Given the description of an element on the screen output the (x, y) to click on. 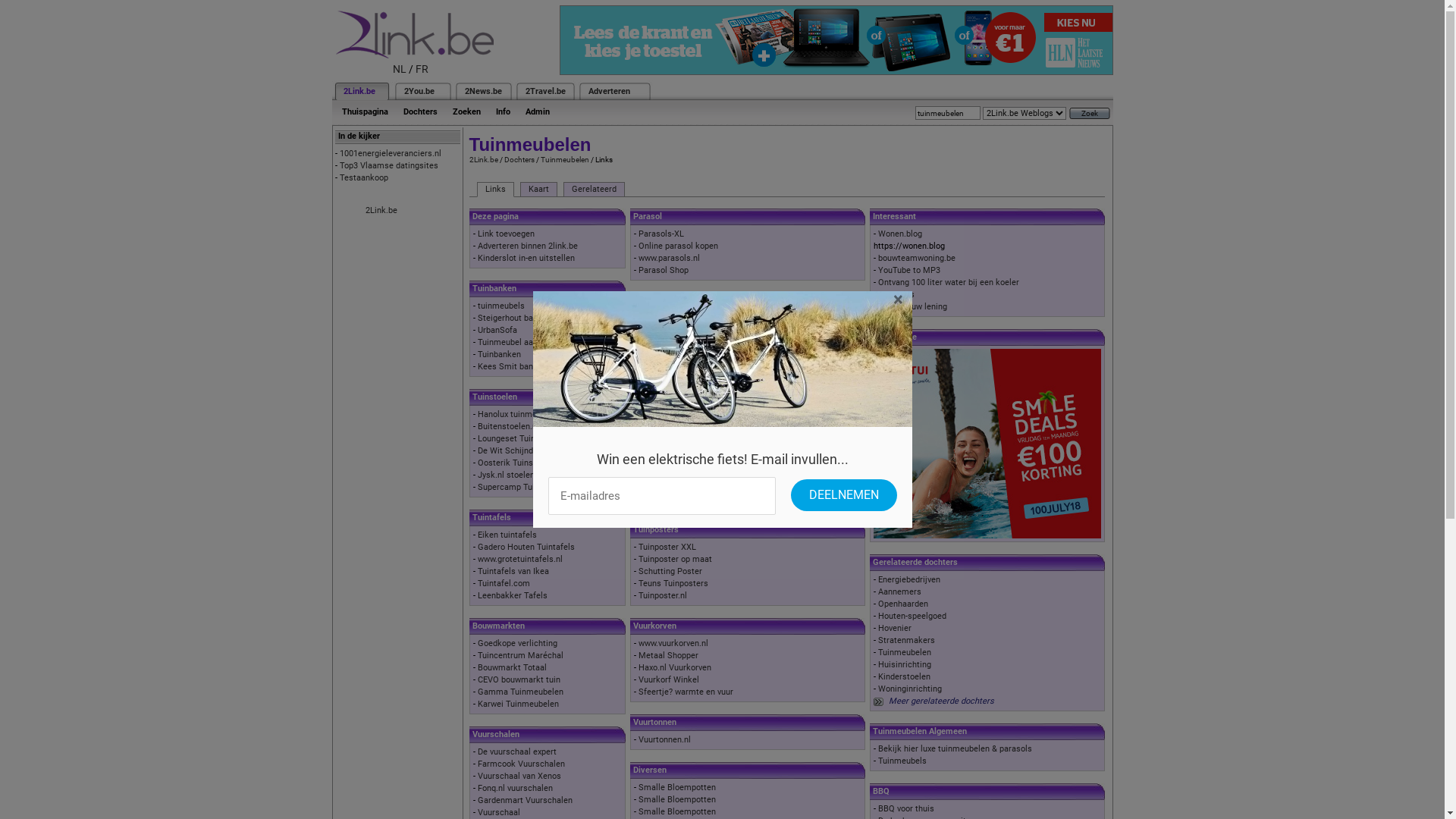
Vuurschaal van Xenos Element type: text (519, 776)
Blokker Tuinsetjes Element type: text (673, 354)
Gamma Tuinmeubelen Element type: text (520, 691)
Parasol Shop Element type: text (663, 270)
Bouwmarkt Totaal Element type: text (511, 667)
tuinmeubels Element type: text (500, 305)
Online parasol kopen Element type: text (678, 246)
Top3 Vlaamse datingsites Element type: text (388, 165)
Gerelateerd Element type: text (593, 189)
De vuurschaal expert Element type: text (516, 751)
Loungeset Tuin Element type: text (506, 438)
Haxo.nl Vuurkorven Element type: text (674, 667)
2Travel.be Element type: text (544, 91)
Tuinmeubelen Element type: text (563, 159)
Zoeken Element type: text (465, 111)
NL Element type: text (399, 68)
Kinderstoelen Element type: text (904, 676)
Vuurtonnen.nl Element type: text (664, 739)
Tuinposter op maat Element type: text (675, 559)
Huisinrichting Element type: text (904, 664)
Bereken uw lening Element type: text (912, 306)
Bijsterbosch Picknicktafels Element type: text (690, 475)
Supercamp Tuinstoelen Element type: text (522, 487)
Gadero Houten Tuintafels Element type: text (525, 547)
UrbanSofa Element type: text (497, 330)
Eiken tuintafels Element type: text (506, 534)
YouTube to MP3 Element type: text (909, 270)
Dochters Element type: text (518, 159)
Smalle Bloempotten Element type: text (676, 787)
Energiebedrijven Element type: text (909, 579)
bouwteamwoning.be Element type: text (916, 258)
Bouwgids Element type: text (896, 294)
FR Element type: text (421, 68)
Tuinposter XXL Element type: text (667, 547)
De Wit Schijndel Element type: text (508, 450)
Openhaarden Element type: text (903, 603)
2You.be Element type: text (418, 91)
Picknicktafels van Engel Element type: text (684, 462)
Hanolux tuinmeubelen Element type: text (680, 318)
Stratenmakers Element type: text (906, 640)
Ontvang 100 liter water bij een koeler Element type: text (948, 282)
Gardenmart Vuurschalen Element type: text (524, 800)
Smalle Bloempotten Element type: text (676, 811)
Buitenstoelen.nl Element type: text (508, 426)
Adverteren Element type: text (609, 91)
www.parasols.nl Element type: text (668, 258)
Info Element type: text (502, 111)
www.picknicktafel.nl Element type: text (677, 414)
Hovenier Element type: text (894, 628)
Sfeertje? warmte en vuur Element type: text (685, 691)
Teuns Tuinposters Element type: text (673, 583)
MR. Wood Products Element type: text (675, 426)
Latour Lith aanbiedingen Element type: text (684, 366)
Schutting Poster Element type: text (670, 571)
Bekijk hier luxe tuinmeubelen & parasols Element type: text (955, 748)
Testaankoop Element type: text (363, 177)
Tuinposter.nl Element type: text (662, 595)
CEVO bouwmarkt tuin Element type: text (518, 679)
Vuurkorf Winkel Element type: text (668, 679)
Goedkope verlichting Element type: text (517, 643)
Tuintafel.com Element type: text (503, 583)
Kaart Element type: text (538, 189)
Dochters Element type: text (420, 111)
Metaal Shopper Element type: text (668, 655)
2Link.be Element type: text (358, 91)
Zoek Element type: text (1089, 113)
Parasols-XL Element type: text (661, 233)
Tuinmeubel aanbod Element type: text (514, 342)
Meer gerelateerde dochters Element type: text (941, 701)
Admin Element type: text (536, 111)
Picknicktafel Expert Element type: text (676, 487)
Tuinset Kees Smit Tuinmeubelen Element type: text (700, 330)
www.vuurkorven.nl Element type: text (673, 643)
BBQ voor thuis Element type: text (906, 808)
Houten-speelgoed Element type: text (912, 616)
Kees Smit banken Element type: text (511, 366)
1001energieleveranciers.nl Element type: text (390, 153)
2Link.be Element type: text (482, 159)
Oosterik Tuinstoelen Element type: text (516, 462)
Leenbakker Tafels Element type: text (512, 595)
Smalle Bloempotten Element type: text (676, 799)
Fonq.nl vuurschalen Element type: text (514, 788)
Links Element type: text (494, 189)
Tuintafels van Ikea Element type: text (513, 571)
Farmcook Vuurschalen Element type: text (520, 763)
Aannemers Element type: text (899, 591)
Adverteren binnen 2link.be Element type: text (527, 246)
2Link.be Element type: text (381, 210)
2News.be Element type: text (482, 91)
Wehkamp Tuinset Element type: text (672, 342)
Vuurschaal Element type: text (498, 812)
Thuispagina Element type: text (364, 111)
Wonen.blog Element type: text (900, 233)
Goedkope picknicktafels NL Element type: text (691, 438)
Karwei Tuinmeubelen Element type: text (517, 704)
Tuinmeubels Element type: text (902, 760)
Jysk.nl stoelen voor de tuin Element type: text (528, 475)
Hanolux tuinmeubelen Element type: text (519, 414)
Woninginrichting Element type: text (909, 688)
www.grotetuintafels.nl Element type: text (519, 559)
www.picknicktafel.org Element type: text (679, 450)
Rooijackers Picknicktafels Element type: text (689, 499)
Tuinbanken Element type: text (498, 354)
Steigerhout bankje Element type: text (513, 318)
Kinderslot in-en uitstellen Element type: text (525, 258)
Link toevoegen Element type: text (505, 233)
Tuinmeubelen Element type: text (904, 652)
